Given the description of an element on the screen output the (x, y) to click on. 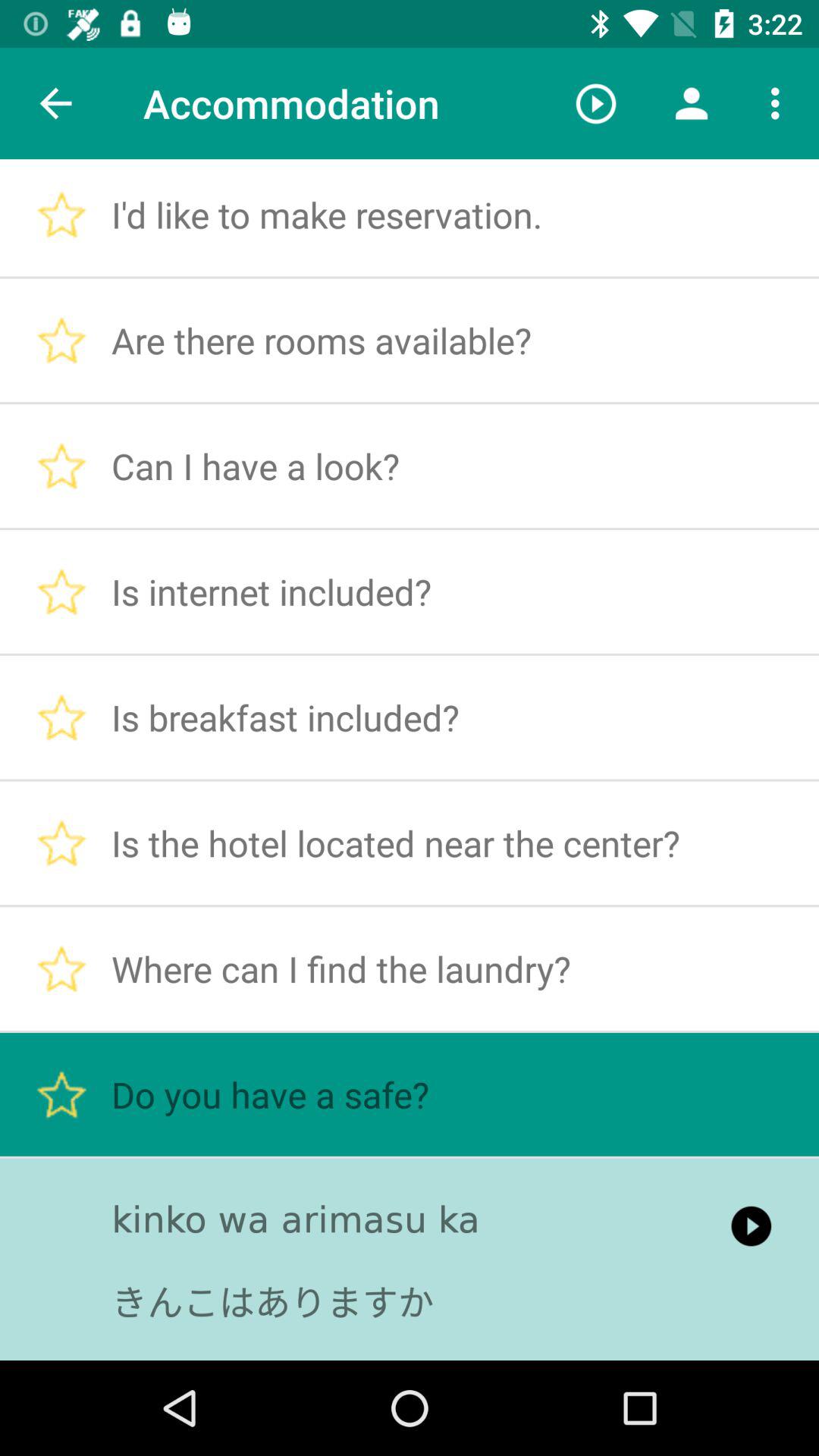
launch the icon to the right of kinko wa arimasu icon (751, 1226)
